Given the description of an element on the screen output the (x, y) to click on. 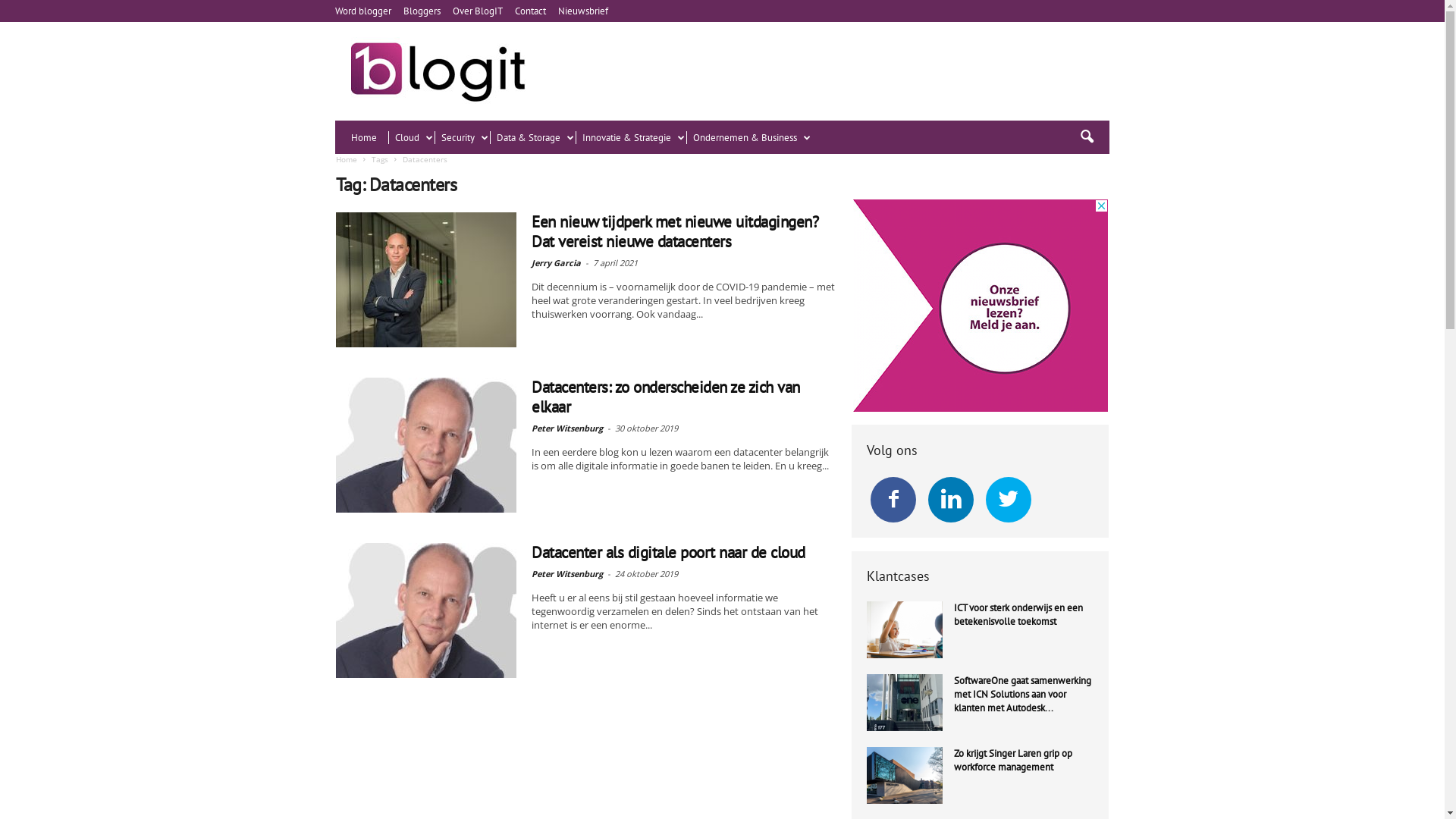
Peter Witsenburg Element type: text (566, 573)
Home Element type: text (369, 137)
Innovatie & Strategie Element type: text (630, 137)
Peter Witsenburg Element type: text (566, 427)
Datacenter als digitale poort naar de cloud Element type: text (668, 552)
Klantcases Element type: text (897, 576)
Linkedin Element type: hover (950, 499)
Datacenters: zo onderscheiden ze zich van elkaar Element type: hover (425, 444)
Word blogger Element type: text (363, 10)
ICT voor sterk onderwijs en een betekenisvolle toekomst Element type: text (1017, 614)
Home Element type: text (346, 158)
Data & Storage Element type: text (532, 137)
Security Element type: text (461, 137)
3rd party ad content Element type: hover (979, 305)
Bloggers Element type: text (421, 10)
Zo krijgt Singer Laren grip op workforce management Element type: text (1012, 759)
Datacenter als digitale poort naar de cloud Element type: hover (425, 609)
Ondernemen & Business Element type: text (749, 137)
Facebook Element type: hover (893, 499)
Datacenters: zo onderscheiden ze zich van elkaar Element type: text (665, 396)
Twitter Element type: hover (1008, 499)
Jerry Garcia Element type: text (555, 262)
ICT voor sterk onderwijs en een betekenisvolle toekomst Element type: hover (904, 629)
Nieuwsbrief Element type: text (583, 10)
Cloud Element type: text (411, 137)
Contact Element type: text (530, 10)
Blogit Element type: text (438, 71)
Blogit | IT- en Telecomnieuws van binnenuit Element type: hover (438, 71)
Over BlogIT Element type: text (477, 10)
Zo krijgt Singer Laren grip op workforce management Element type: hover (904, 774)
